Given the description of an element on the screen output the (x, y) to click on. 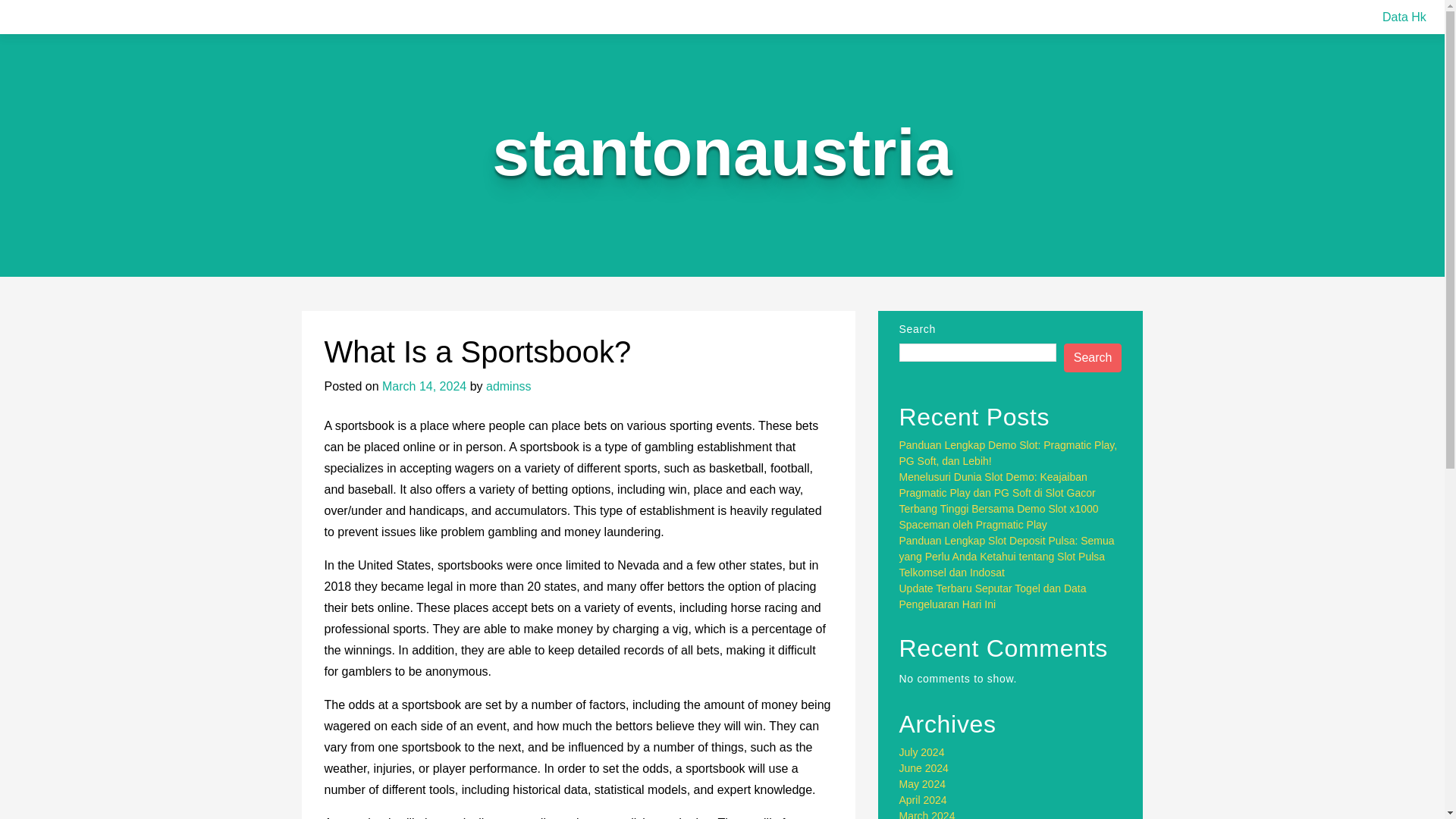
April 2024 (923, 799)
March 2024 (927, 814)
May 2024 (921, 784)
March 14, 2024 (423, 386)
Update Terbaru Seputar Togel dan Data Pengeluaran Hari Ini (992, 596)
Data Hk (1403, 16)
June 2024 (924, 767)
July 2024 (921, 752)
adminss (508, 386)
Search (1093, 357)
Data Hk (1403, 16)
